Given the description of an element on the screen output the (x, y) to click on. 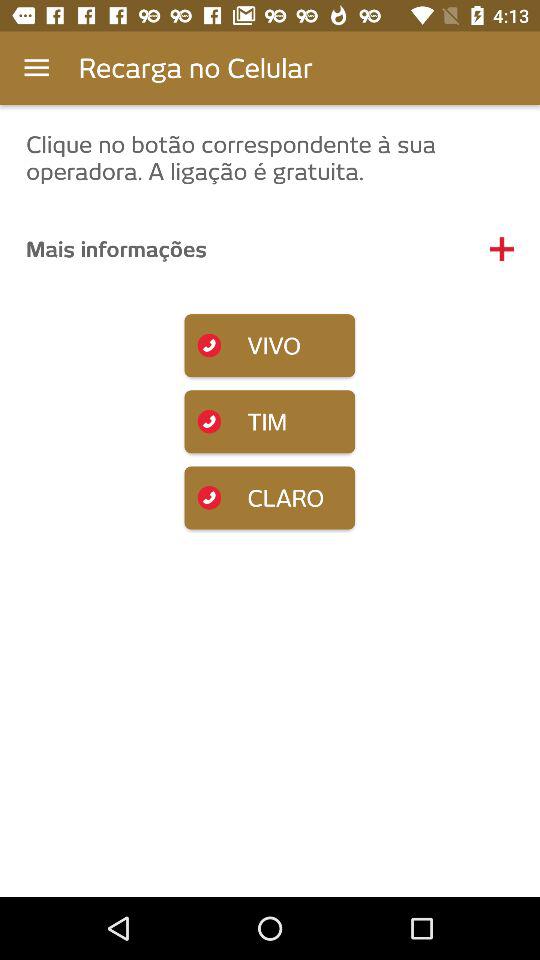
swipe until the vivo icon (269, 345)
